Given the description of an element on the screen output the (x, y) to click on. 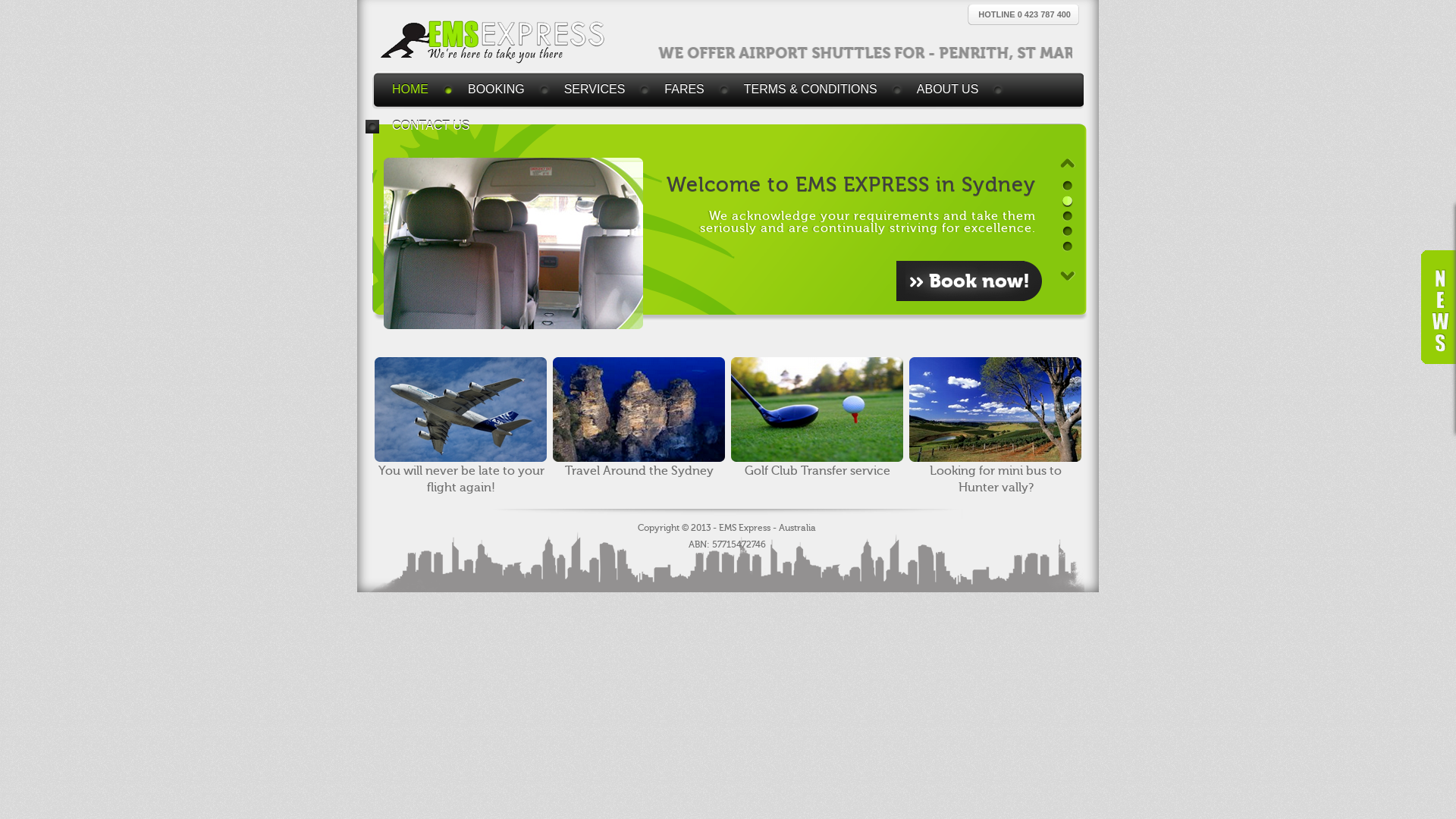
4 Element type: text (1067, 231)
2 Element type: text (1067, 201)
Book now! Element type: text (968, 280)
ABOUT US Element type: text (952, 89)
SERVICES Element type: text (599, 89)
5 Element type: text (1067, 246)
1 Element type: text (1067, 185)
next Element type: text (1067, 275)
3 Element type: text (1067, 216)
FARES Element type: text (688, 89)
prev Element type: text (1067, 162)
HOTLINE 0 423 787 400 Element type: text (1024, 14)
TERMS & CONDITIONS Element type: text (814, 89)
EMS EXPRESS Element type: text (493, 41)
CONTACT US Element type: text (435, 125)
BOOKING Element type: text (500, 89)
HOME Element type: text (414, 89)
